Given the description of an element on the screen output the (x, y) to click on. 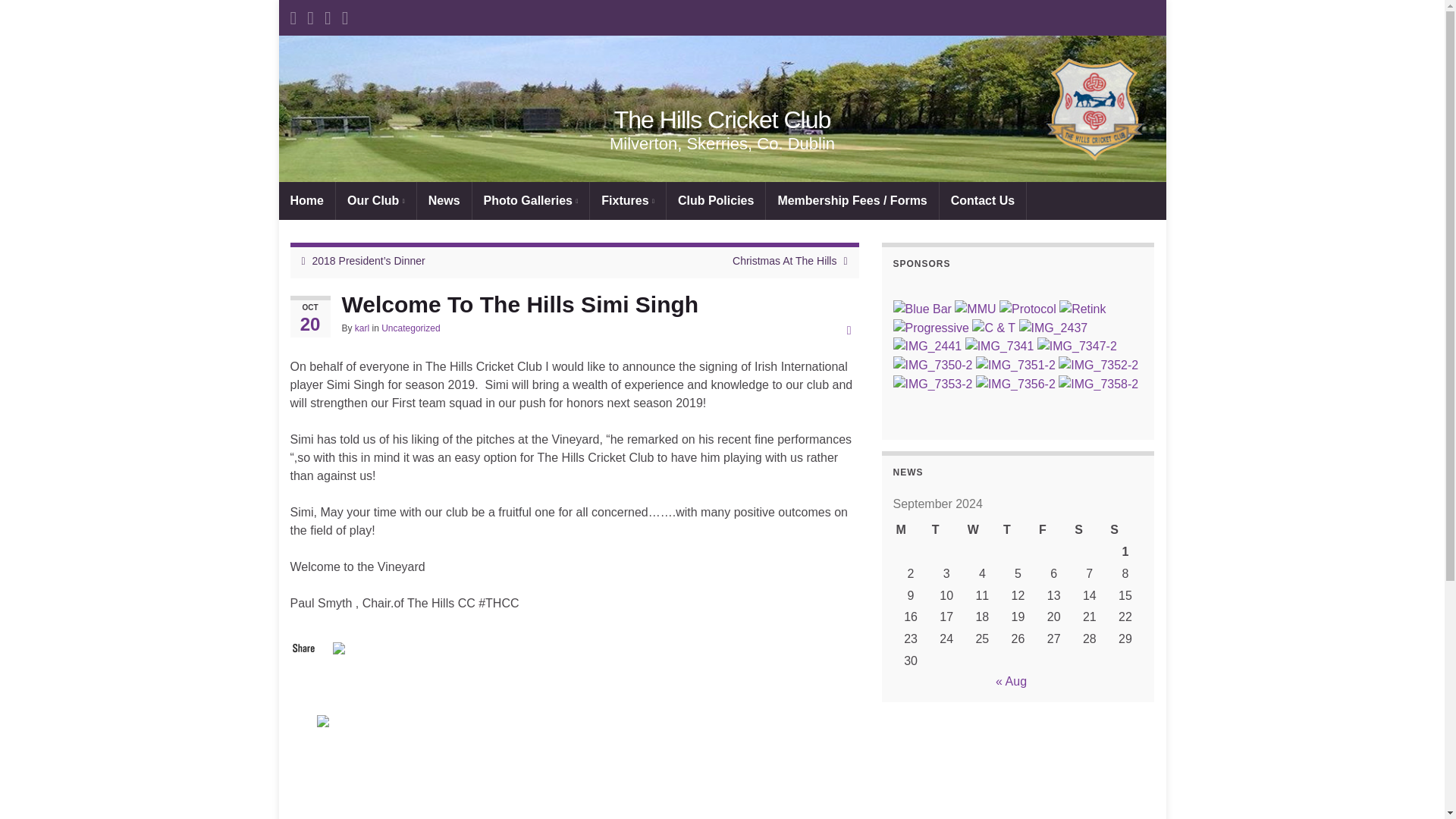
Photo Galleries (530, 200)
Uncategorized (410, 327)
Club Policies (715, 200)
Christmas At The Hills (783, 260)
karl (362, 327)
Our Club (376, 200)
Contact Us (982, 200)
The Hills Cricket Club (722, 108)
Twitter (325, 719)
